Given the description of an element on the screen output the (x, y) to click on. 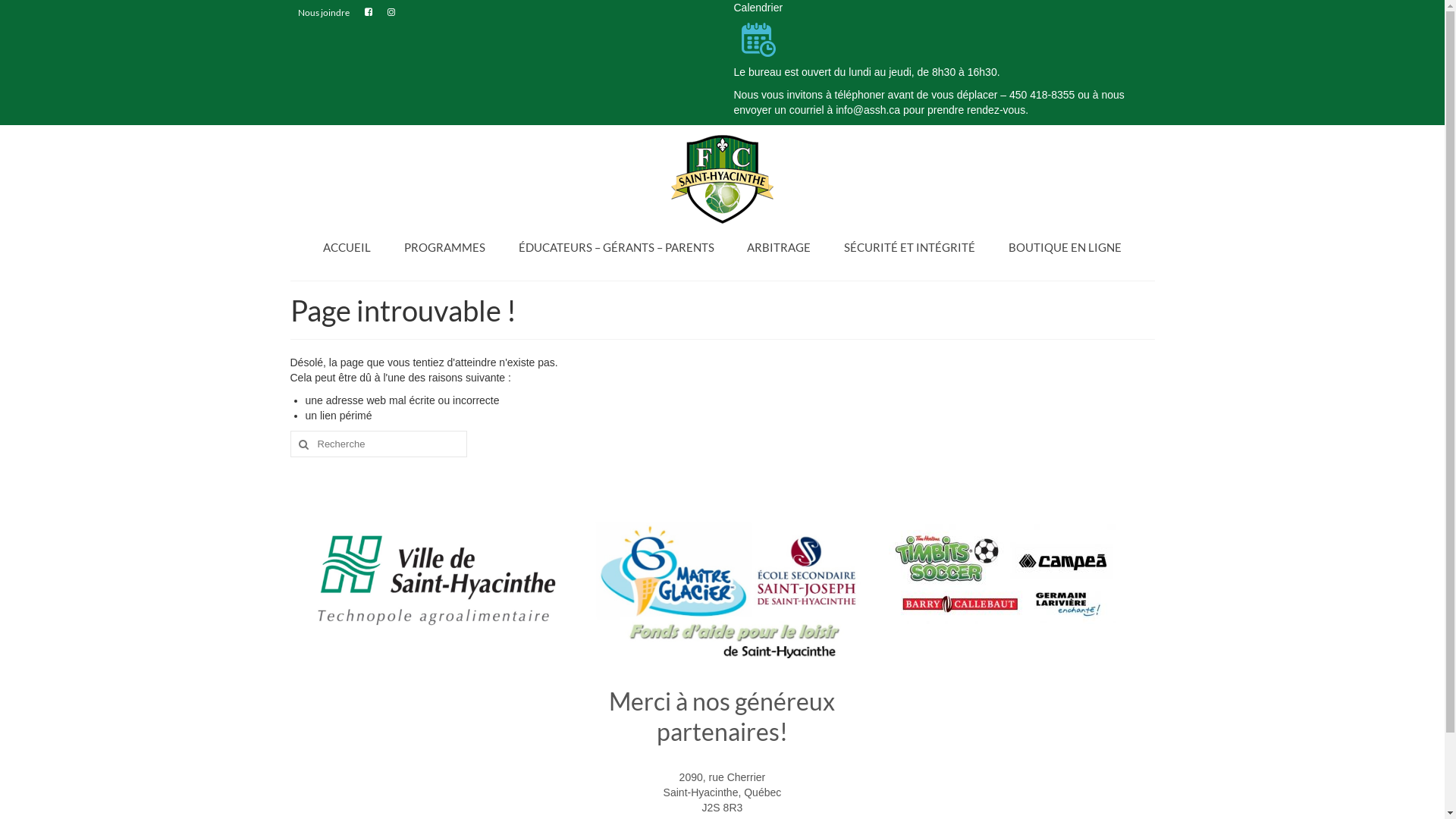
ARBITRAGE Element type: text (778, 246)
PROGRAMMES Element type: text (444, 246)
ACCUEIL Element type: text (346, 246)
BOUTIQUE EN LIGNE Element type: text (1064, 246)
Nous joindre Element type: text (322, 12)
